Given the description of an element on the screen output the (x, y) to click on. 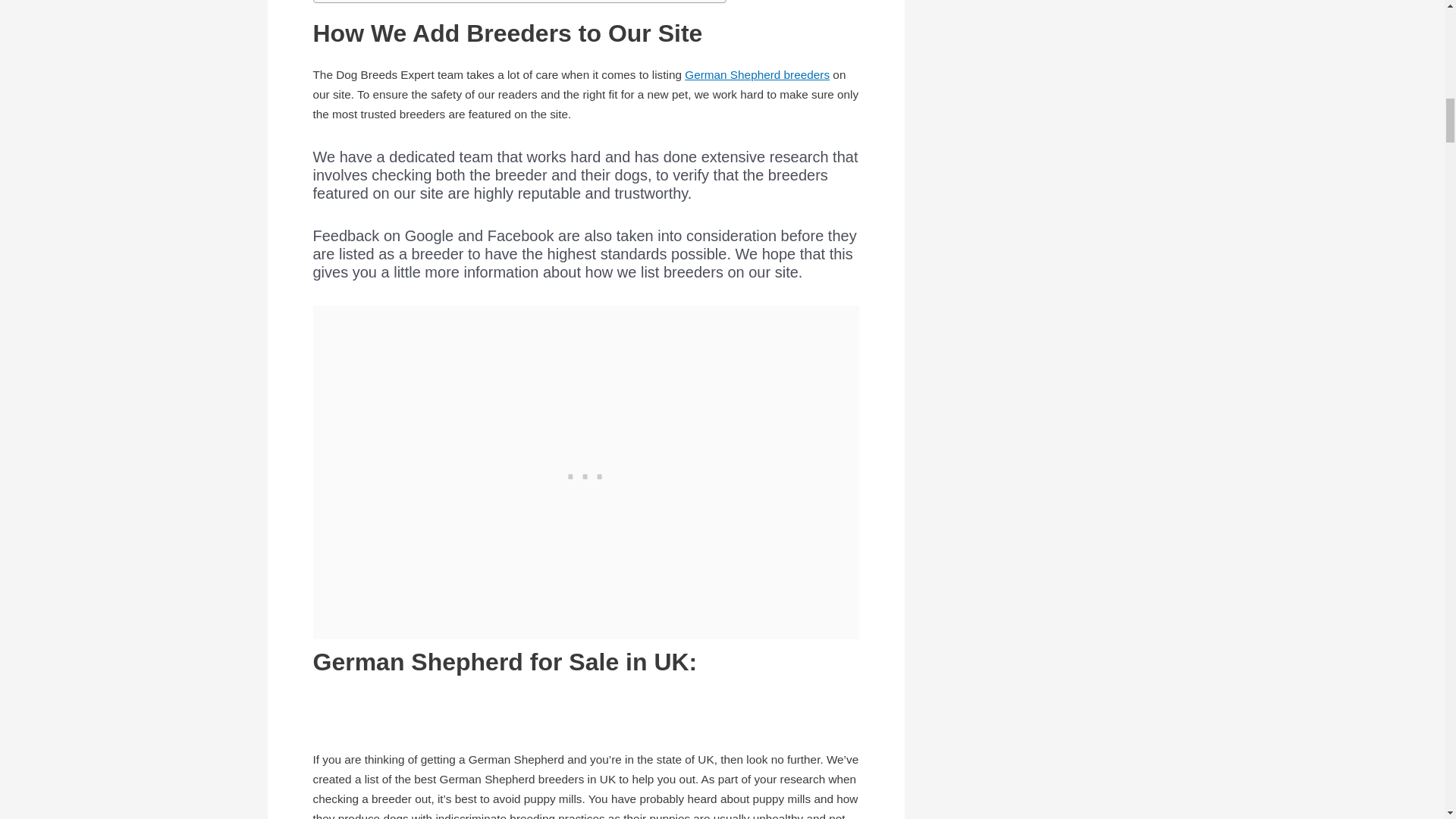
German Shepherd breeders (756, 74)
